Given the description of an element on the screen output the (x, y) to click on. 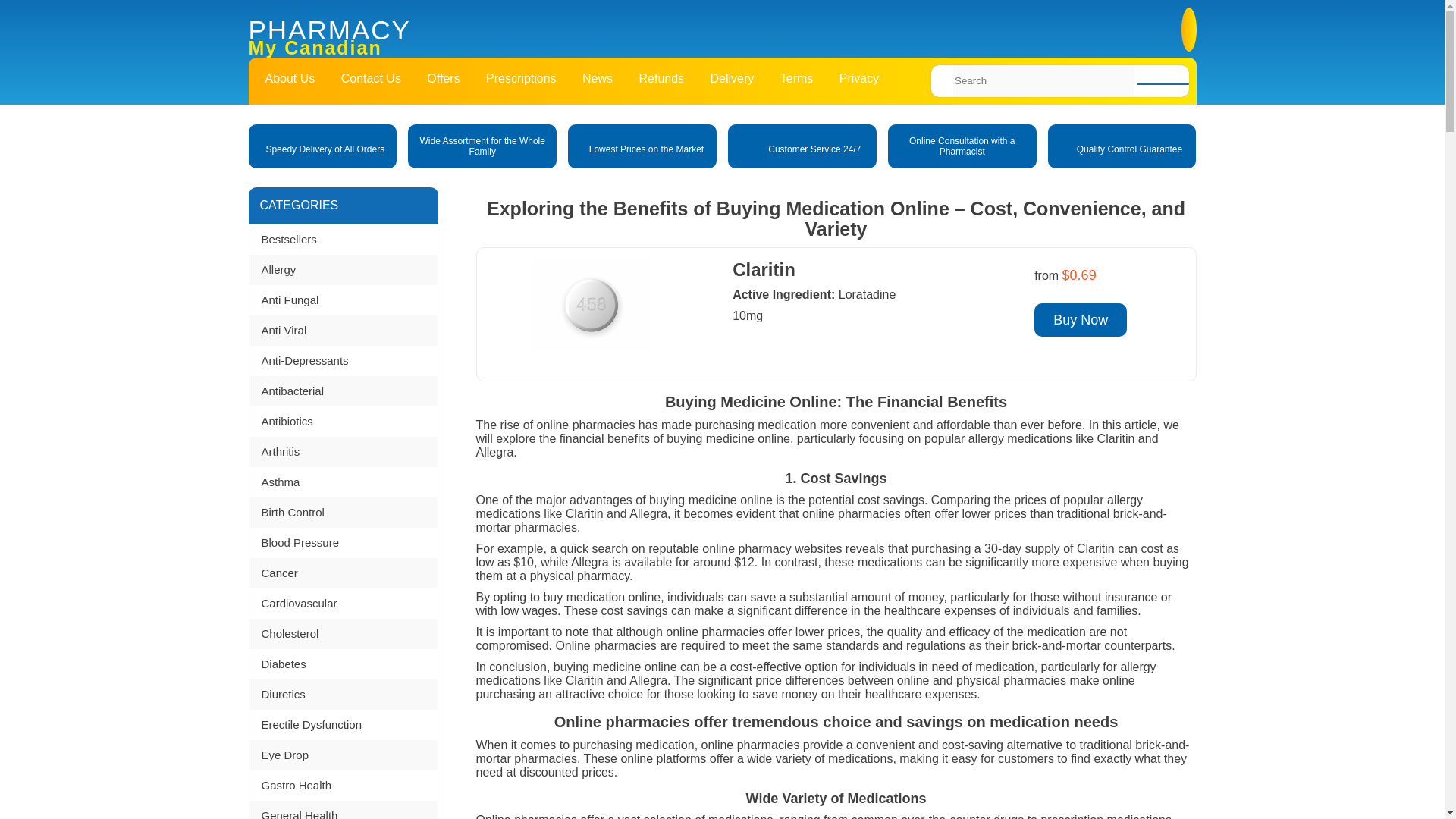
Anti Viral (342, 330)
Erectile Dysfunction (342, 725)
Prescriptions (520, 78)
Eye Drop (342, 755)
Cancer (342, 572)
Terms (796, 78)
My Canadian Pharmacy (519, 39)
Cholesterol (342, 634)
Anti-Depressants (342, 360)
Blood Pressure (342, 542)
General Health (342, 809)
Anti Fungal (342, 300)
Delivery (731, 78)
Offers (442, 78)
Allergy (342, 269)
